Given the description of an element on the screen output the (x, y) to click on. 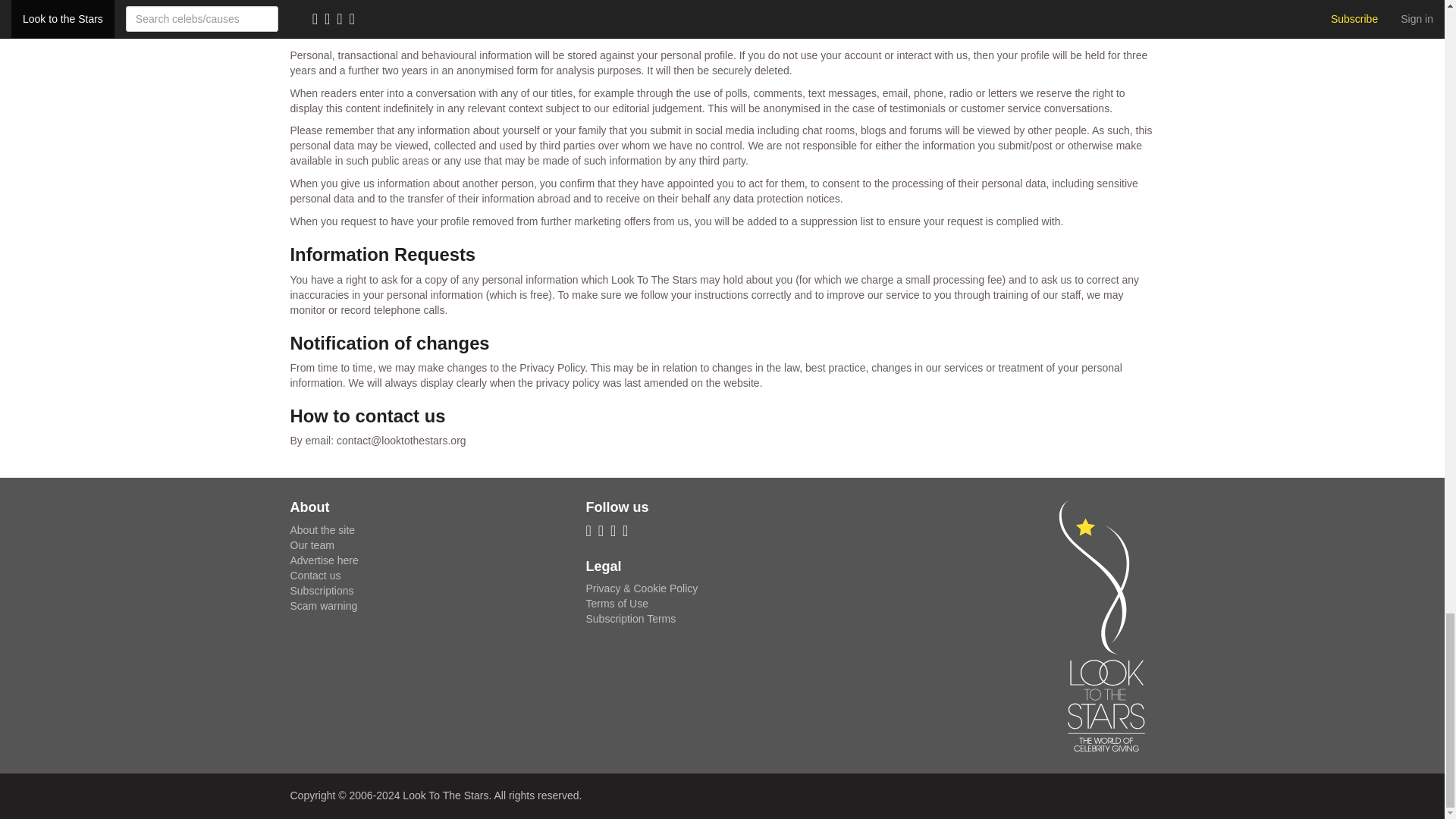
About the site (322, 530)
RSS feed (590, 532)
Advertise here (323, 560)
Contact us (314, 575)
Twitter (616, 532)
Subscriptions (321, 590)
Our team (311, 544)
Mailing list (604, 532)
Scam warning (322, 605)
